Given the description of an element on the screen output the (x, y) to click on. 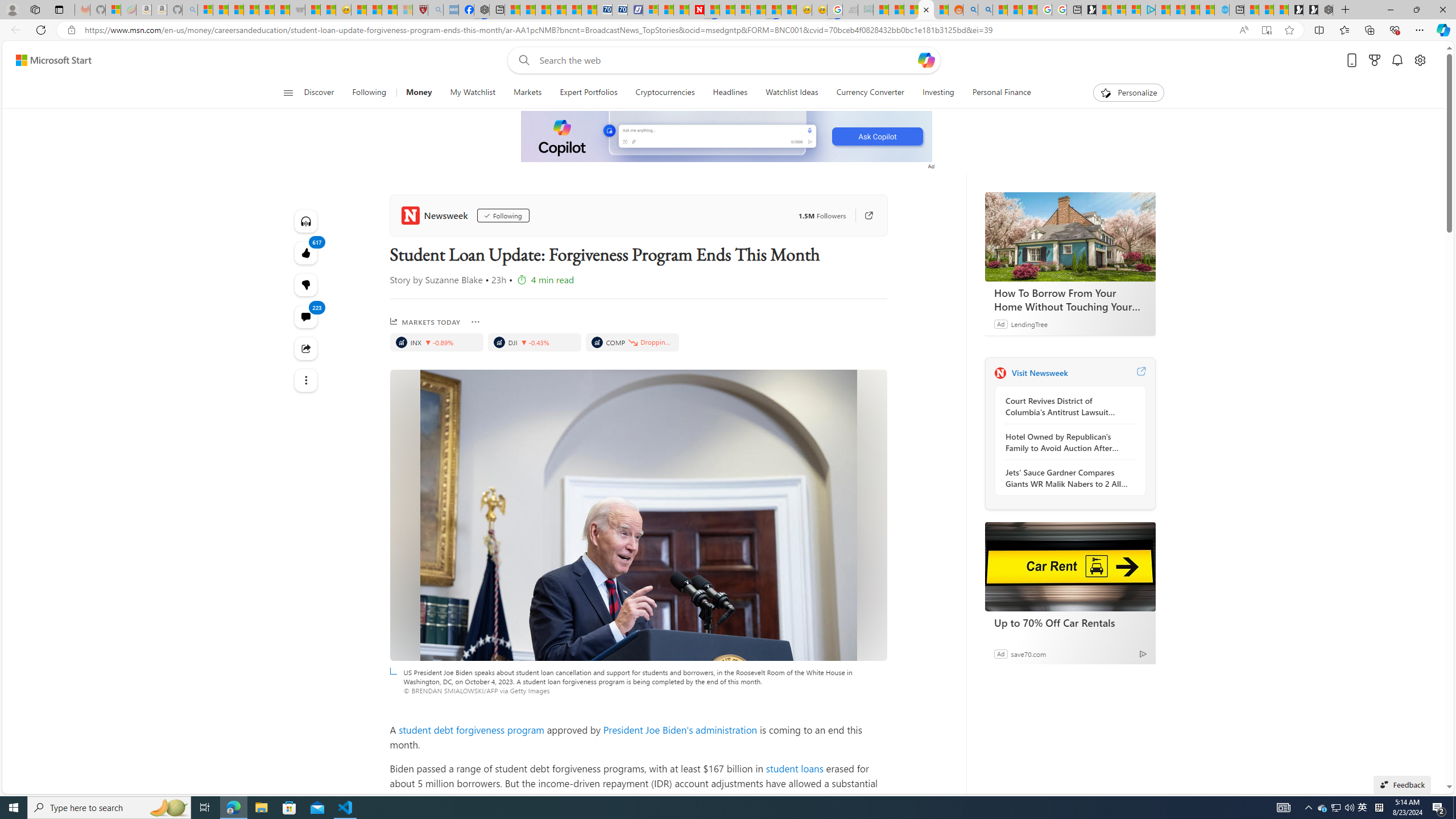
617 Like (305, 252)
Markets (527, 92)
Currency Converter (869, 92)
President Joe Biden's administration (679, 729)
My Watchlist (472, 92)
